Given the description of an element on the screen output the (x, y) to click on. 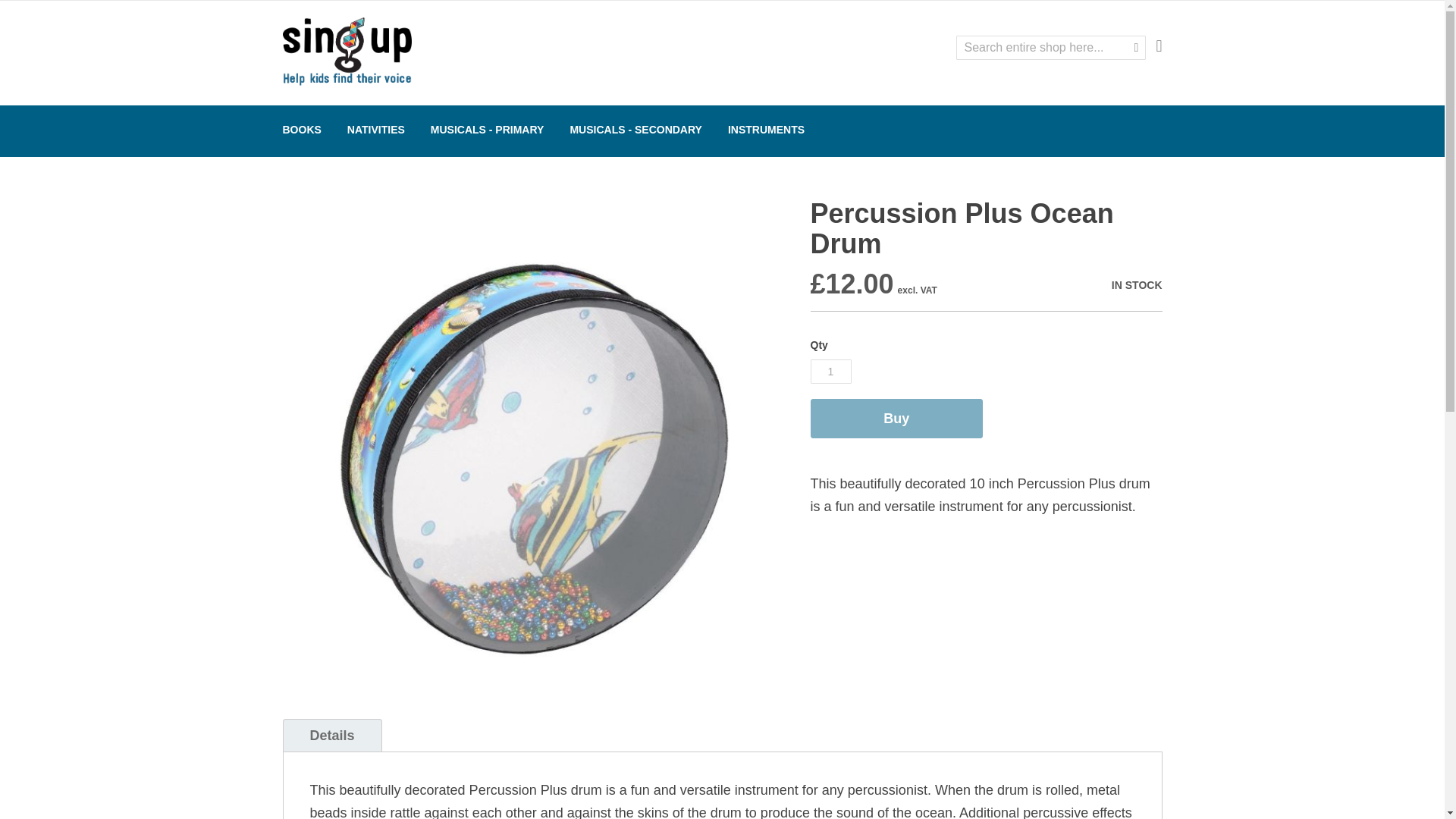
Availability (1066, 285)
Qty (829, 371)
Singup (346, 51)
BOOKS (301, 131)
INSTRUMENTS (766, 131)
Details (331, 735)
MUSICALS - SECONDARY (635, 131)
MUSICALS - PRIMARY (487, 131)
Buy (895, 418)
NATIVITIES (375, 131)
Buy (895, 418)
1 (829, 371)
